Given the description of an element on the screen output the (x, y) to click on. 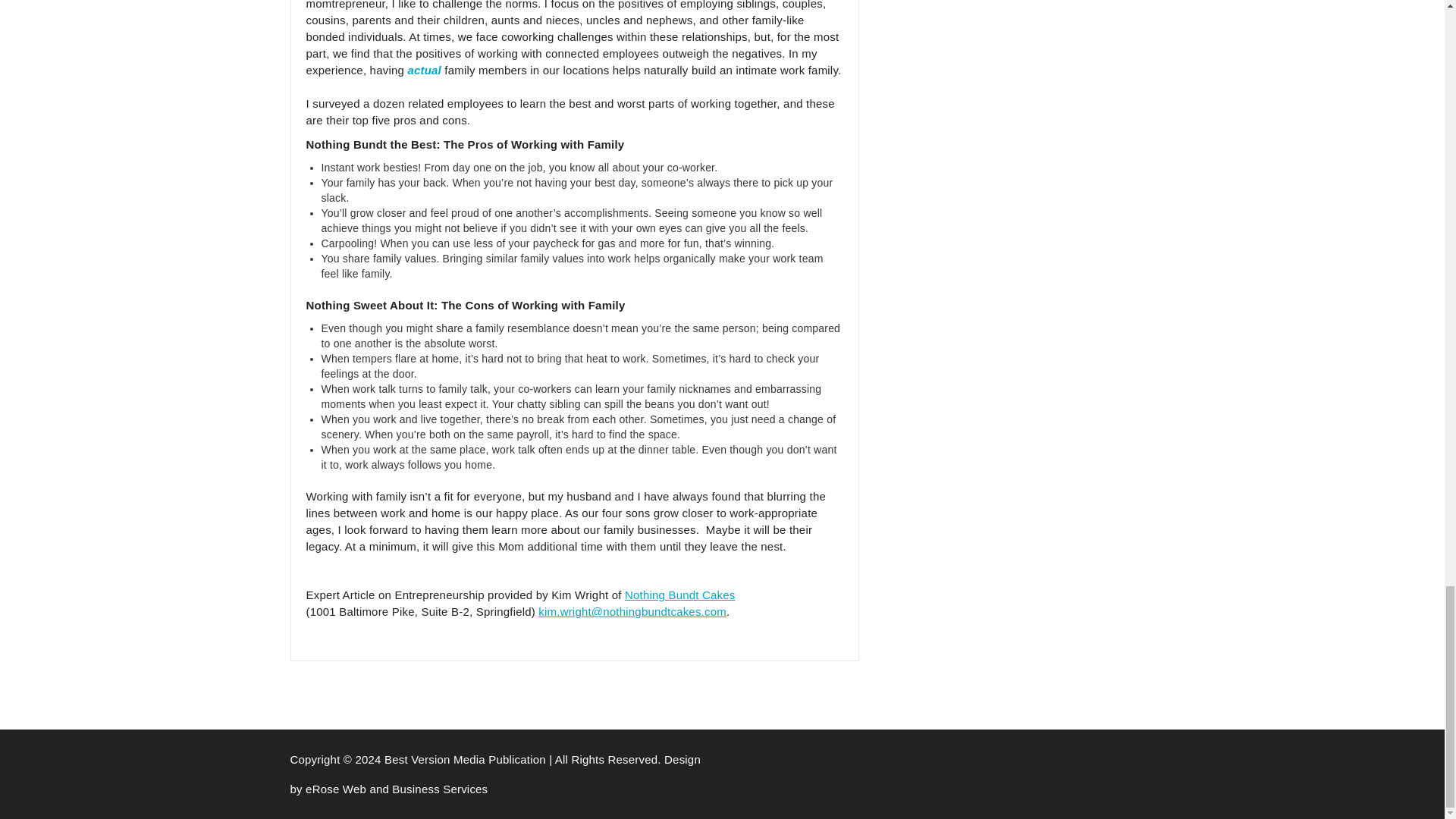
Nothing Bundt Cakes (679, 594)
